Given the description of an element on the screen output the (x, y) to click on. 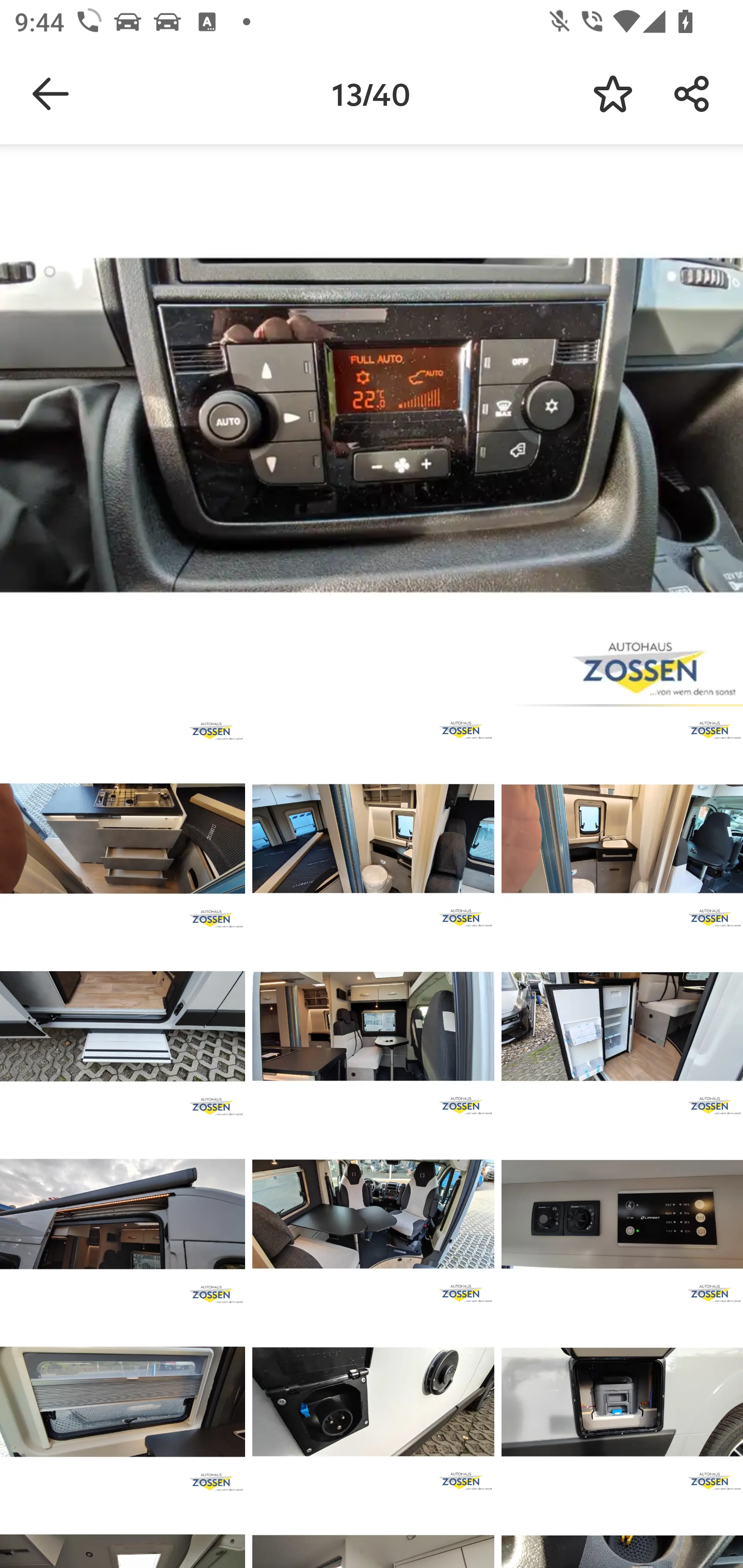
back button (50, 93)
share button (692, 93)
main image view (371, 428)
image (122, 837)
image (373, 837)
image (622, 837)
image (122, 1026)
image (373, 1026)
image (622, 1026)
image (122, 1214)
image (373, 1214)
image (622, 1214)
image (122, 1402)
image (373, 1402)
image (622, 1402)
